Given the description of an element on the screen output the (x, y) to click on. 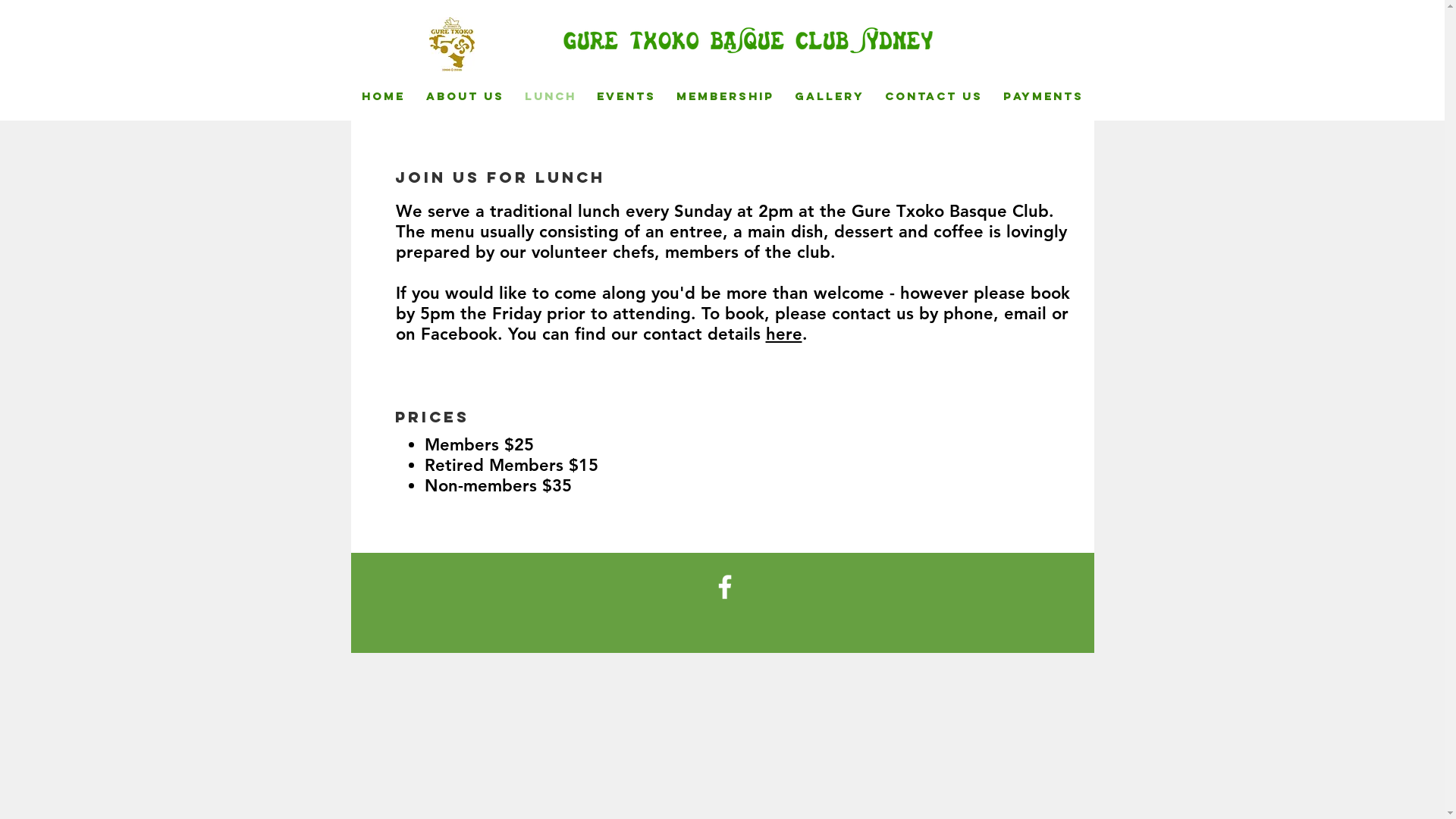
GALLERY Element type: text (829, 95)
MEMBERSHIP Element type: text (724, 95)
Payments Element type: text (1043, 95)
HOME Element type: text (382, 95)
EVENTS Element type: text (626, 95)
CONTACT US Element type: text (934, 95)
LUNCH Element type: text (550, 95)
ABOUT US Element type: text (464, 95)
here Element type: text (783, 333)
